Given the description of an element on the screen output the (x, y) to click on. 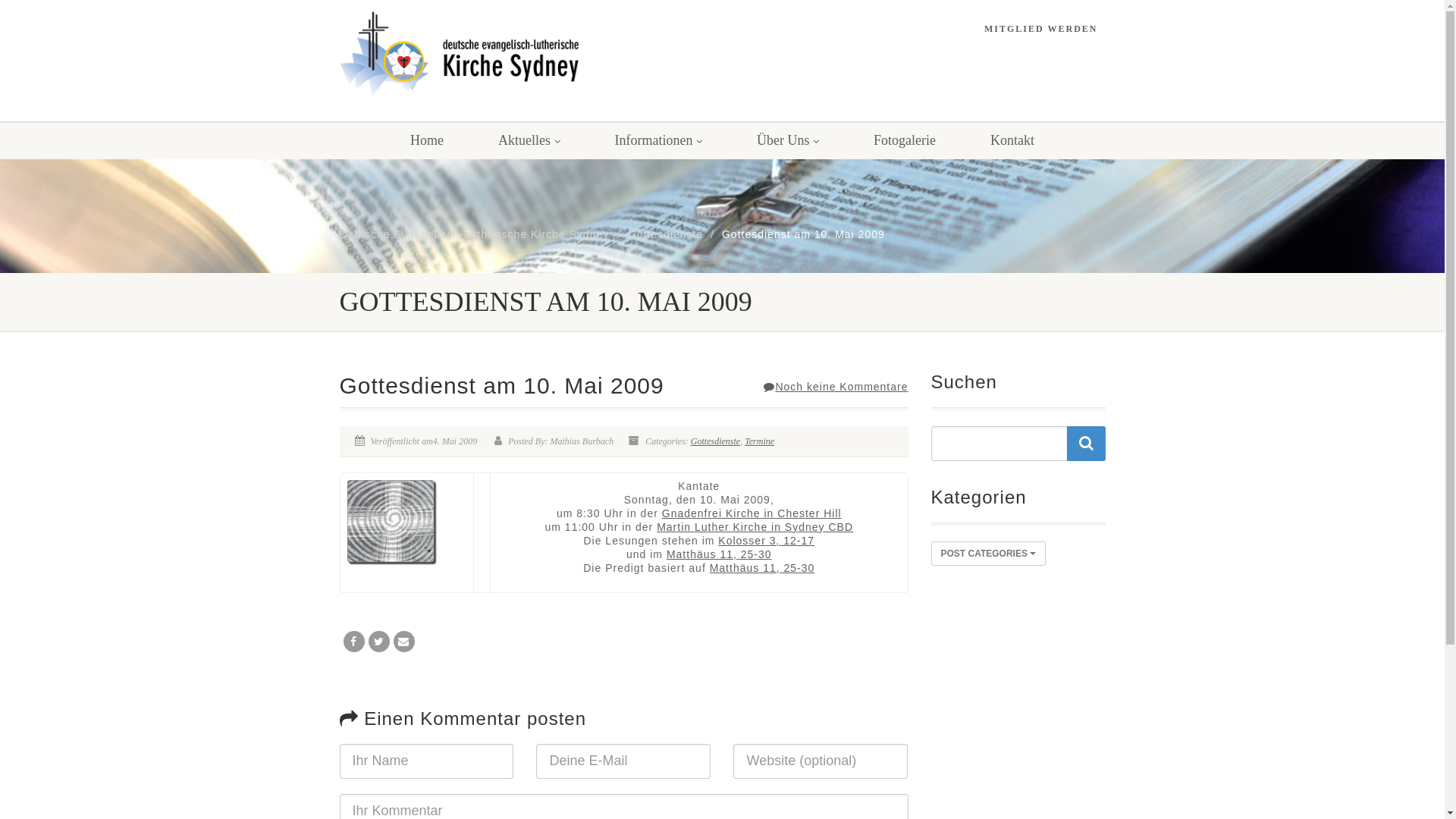
Noch keine Kommentare Element type: text (835, 386)
Deutsche Evangelisch-Lutherische Kirche Sydney Element type: text (474, 234)
Martin Luther Kirche in Sydney CBD Element type: text (754, 526)
MITGLIED WERDEN Element type: text (1040, 28)
Aktuelles Element type: text (528, 140)
Termine Element type: text (759, 441)
Gottesdienste Element type: text (664, 234)
POST CATEGORIES Element type: text (988, 553)
Kolosser 3, 12-17 Element type: text (766, 540)
Gottesdienste Element type: text (715, 441)
Email Element type: hover (403, 641)
Fotogalerie Element type: text (904, 140)
Logo Element type: hover (459, 55)
Informationen Element type: text (658, 140)
Kontakt Element type: text (1012, 140)
Tweet Element type: hover (378, 641)
Share on Facebook Element type: hover (353, 641)
Gnadenfrei Kirche in Chester Hill Element type: text (751, 513)
Home Element type: text (426, 140)
